Given the description of an element on the screen output the (x, y) to click on. 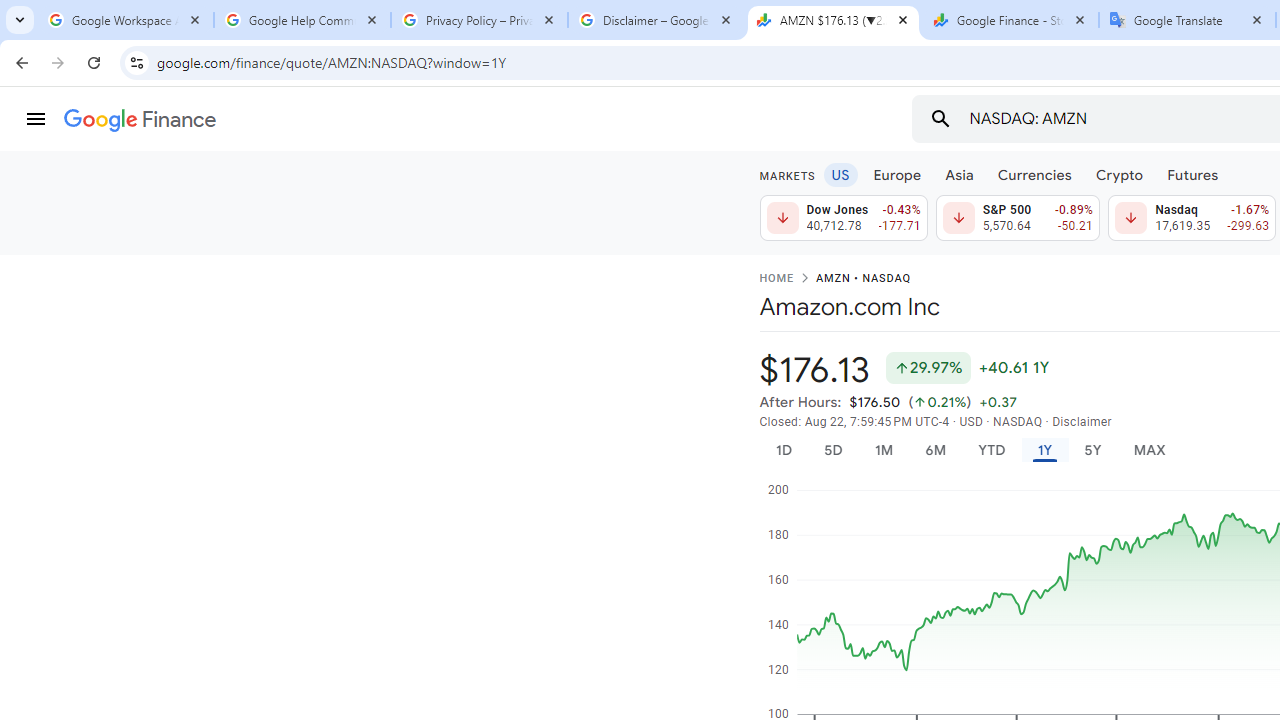
HOME (776, 279)
6M (934, 449)
5D (832, 449)
